Given the description of an element on the screen output the (x, y) to click on. 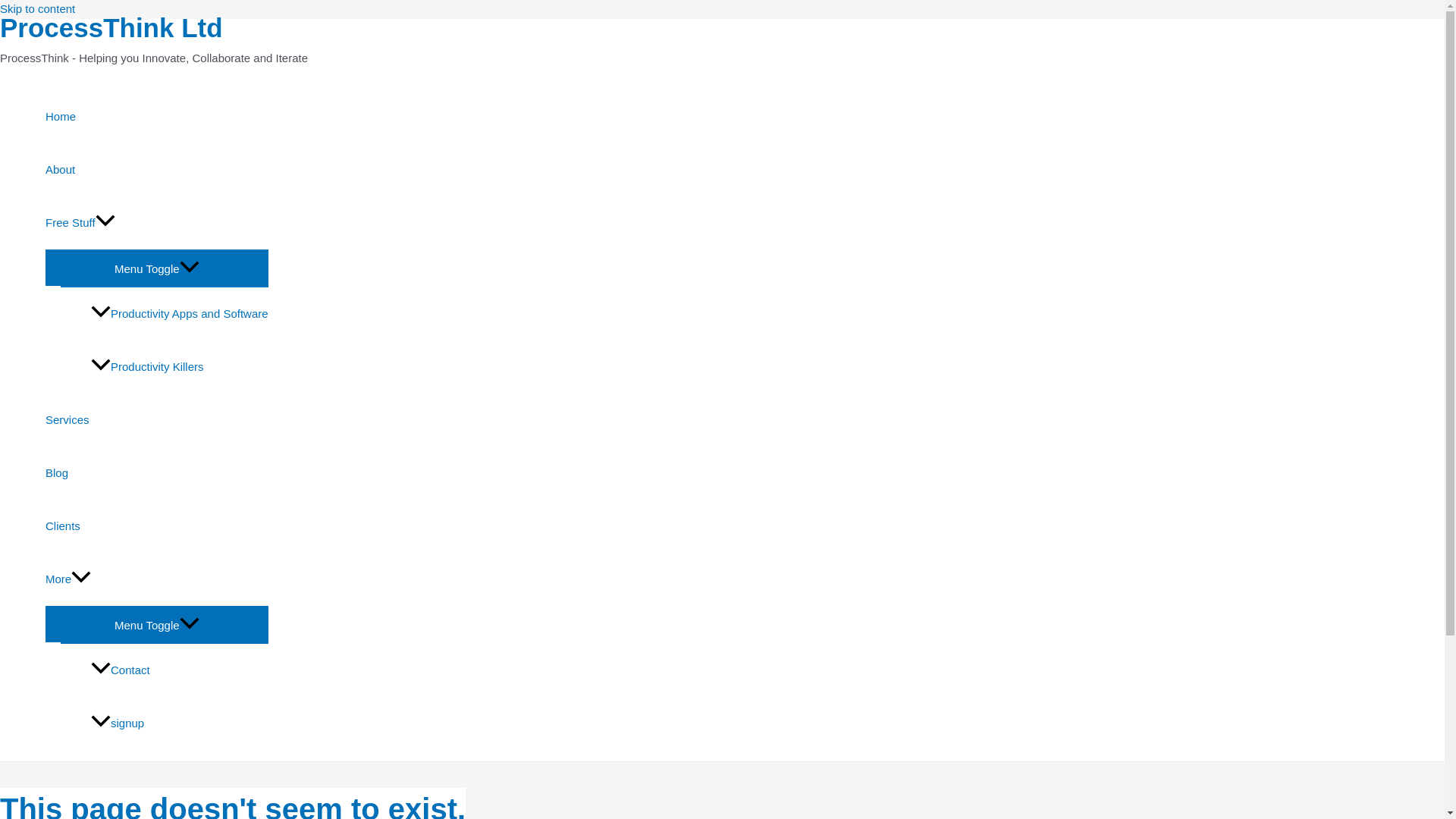
ProcessThink Ltd (111, 27)
Menu Toggle (156, 624)
Menu Toggle (156, 267)
Productivity Killers (178, 366)
More (156, 579)
Contact (178, 669)
Home (156, 116)
Blog (156, 472)
Productivity Apps and Software (178, 313)
About (156, 169)
